Given the description of an element on the screen output the (x, y) to click on. 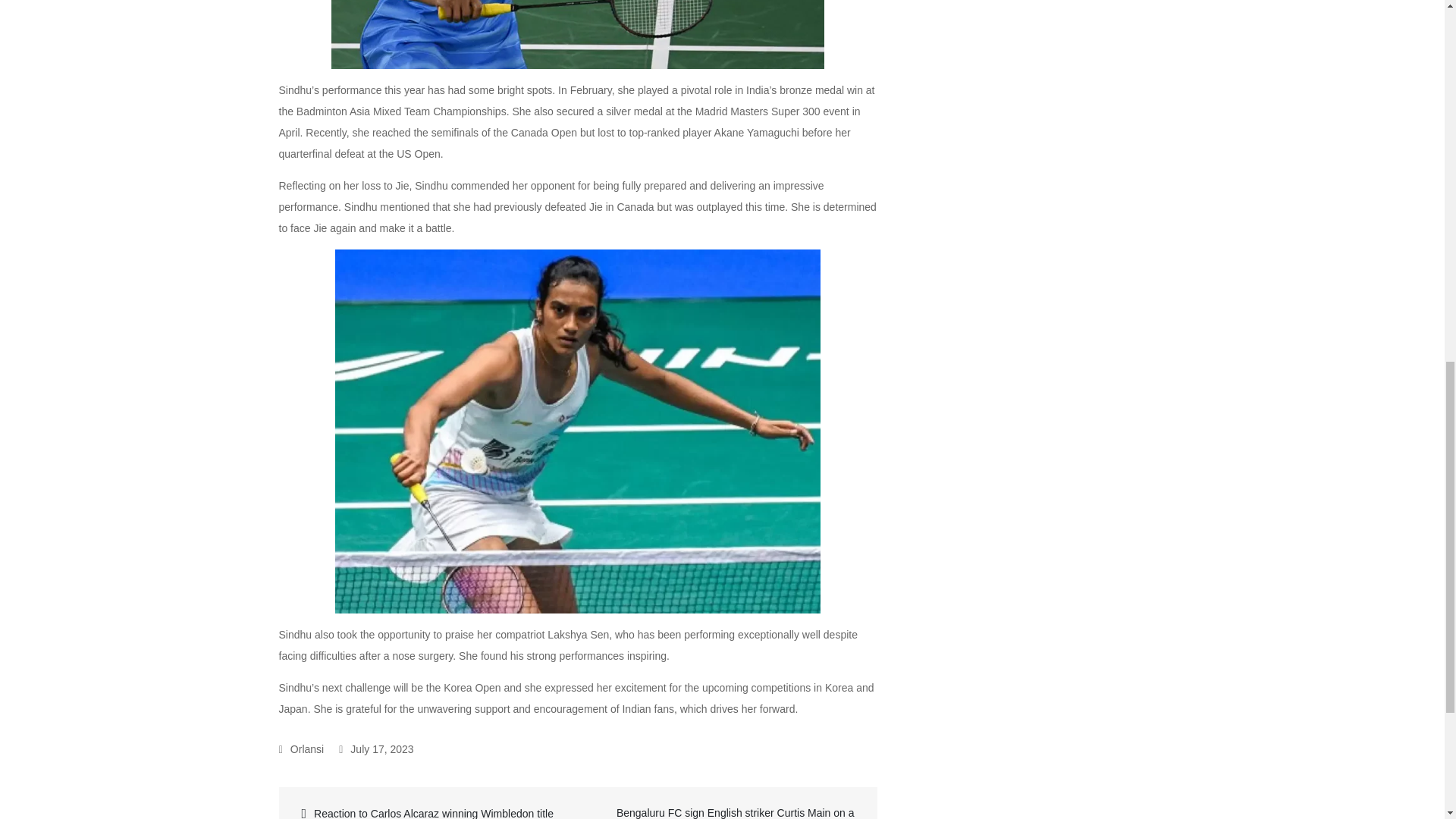
July 17, 2023 (376, 748)
Orlansi (301, 748)
Reaction to Carlos Alcaraz winning Wimbledon title (430, 810)
